Given the description of an element on the screen output the (x, y) to click on. 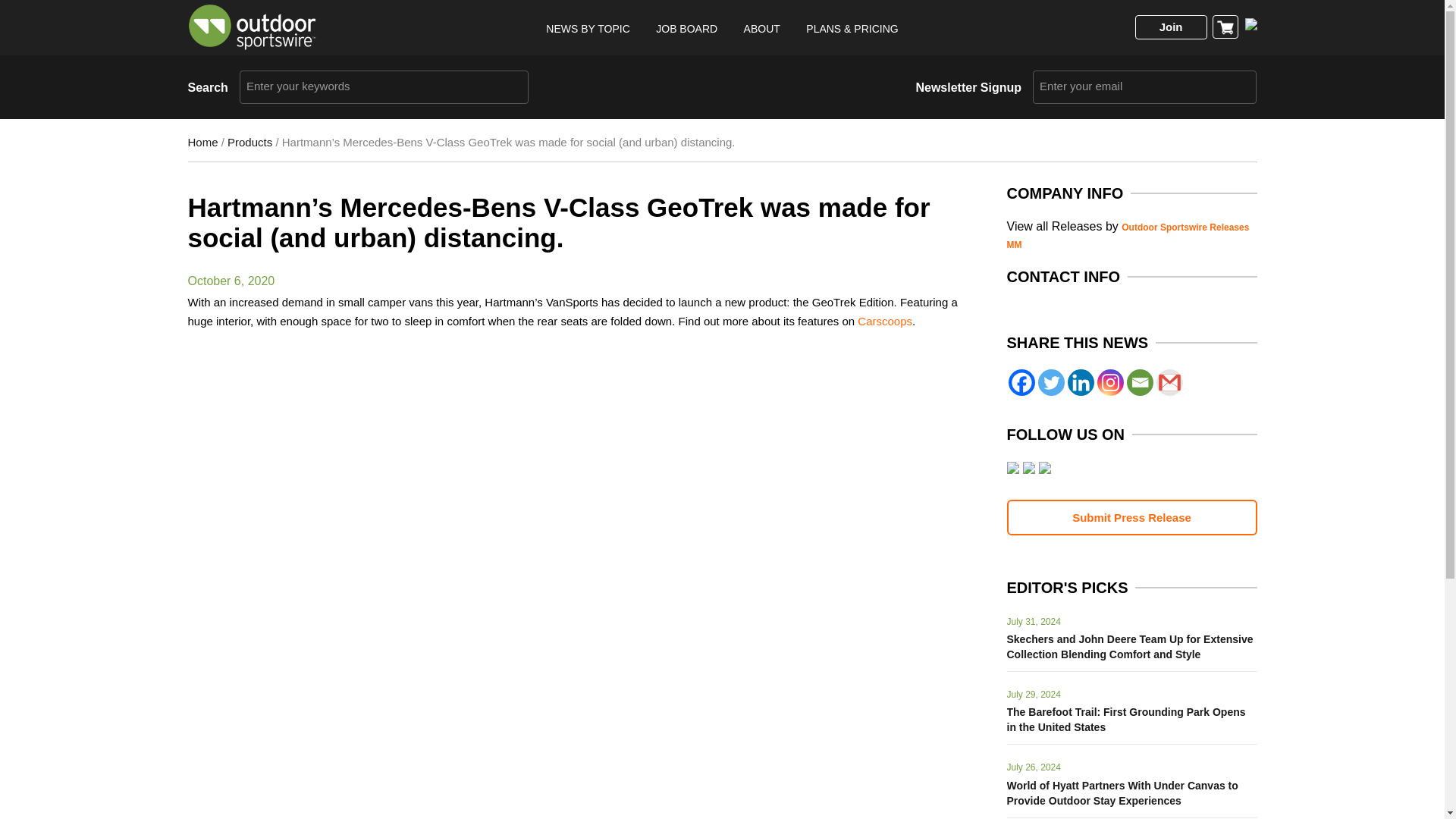
Email (1139, 382)
NEWS BY TOPIC (587, 28)
Home (202, 141)
Linkedin (1080, 382)
Twitter (1050, 382)
ABOUT (762, 28)
Facebook (1022, 382)
Join (1171, 27)
JOB BOARD (686, 28)
Google Gmail (1169, 382)
Posts by Outdoor Sportswire Releases MM (1128, 235)
Instagram (1109, 382)
